Given the description of an element on the screen output the (x, y) to click on. 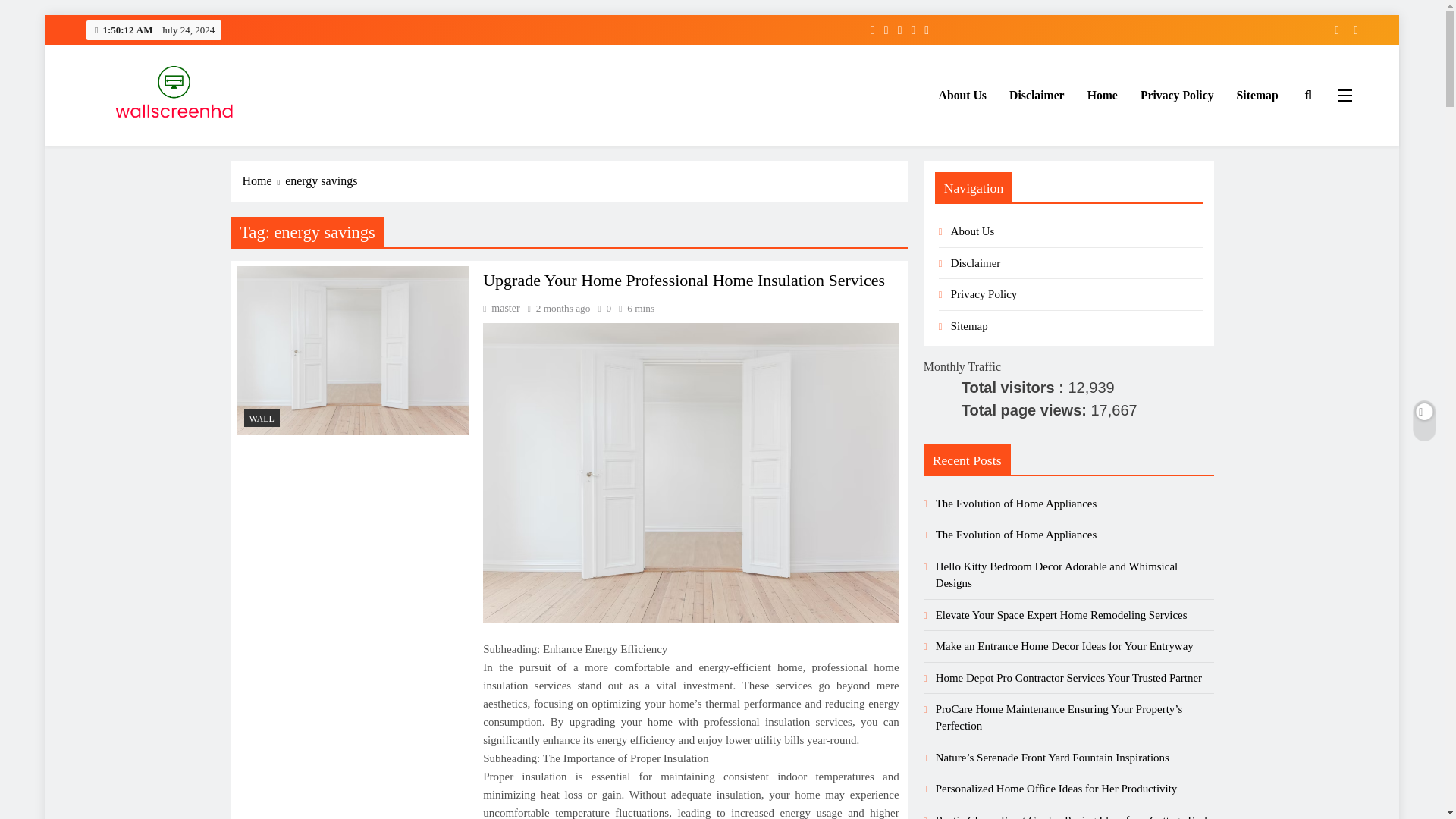
Privacy Policy (1177, 95)
About Us (972, 231)
About Us (962, 95)
Upgrade Your Home Professional Home Insulation Services (684, 280)
Upgrade Your Home Professional Home Insulation Services (352, 350)
Upgrade Your Home Professional Home Insulation Services (690, 472)
WALL (261, 417)
Sitemap (1257, 95)
Home (1102, 95)
Disclaimer (975, 263)
WallscreenHD (158, 146)
Home (264, 180)
2 months ago (563, 307)
Disclaimer (1036, 95)
